Given the description of an element on the screen output the (x, y) to click on. 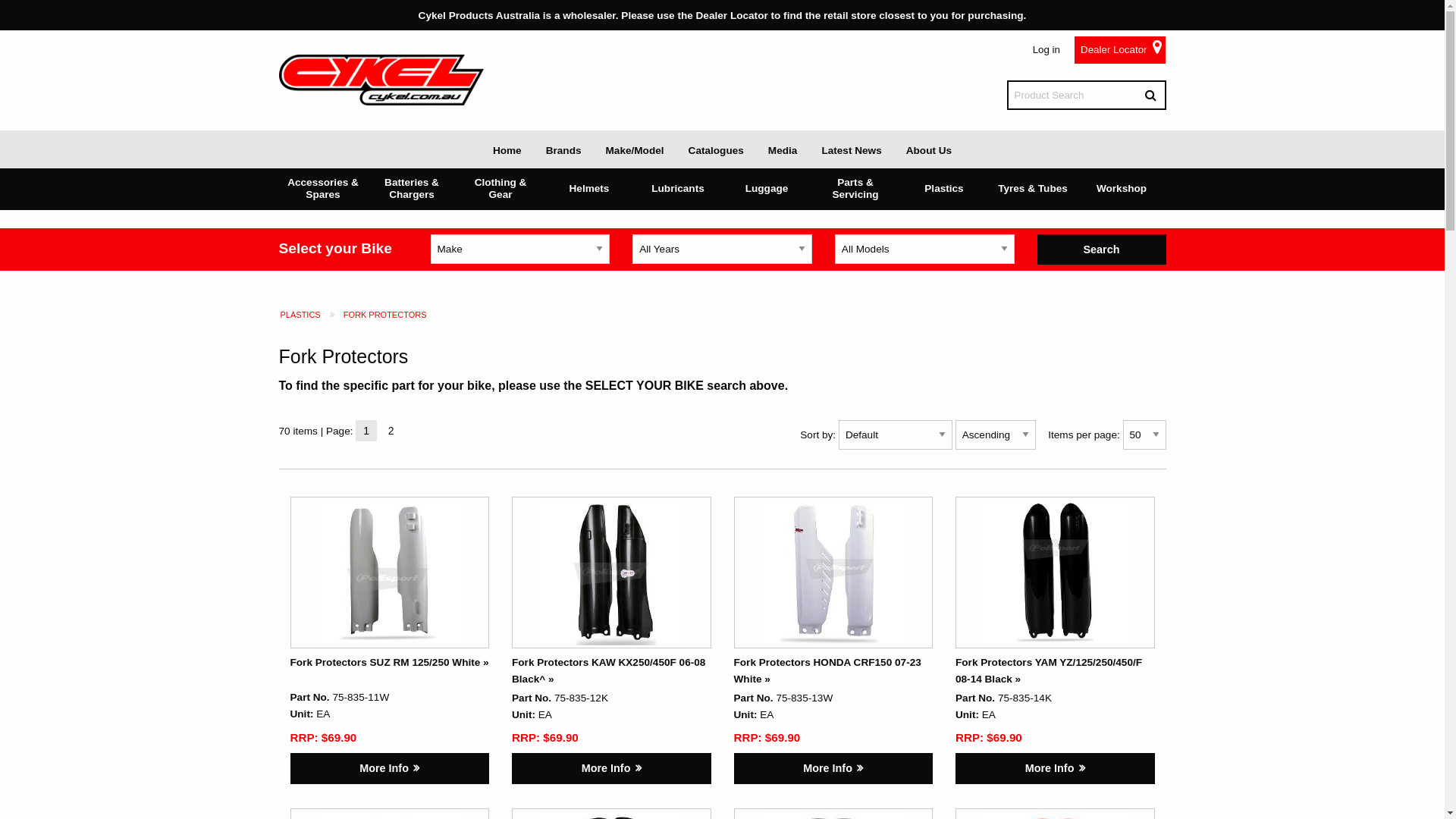
PLASTICS Element type: text (300, 314)
Search Element type: text (1101, 249)
Latest News Element type: text (851, 149)
More Info Element type: text (611, 768)
Luggage Element type: text (765, 188)
Tyres & Tubes Element type: text (1032, 188)
Media Element type: text (782, 149)
Parts & Servicing Element type: text (855, 188)
Helmets Element type: text (588, 188)
Batteries & Chargers Element type: text (411, 188)
2 Element type: text (390, 430)
More Info Element type: text (389, 768)
Accessories & Spares Element type: text (323, 188)
Home Element type: text (506, 149)
Make/Model Element type: text (634, 149)
Catalogues Element type: text (716, 149)
Log in Element type: text (1046, 49)
About Us Element type: text (928, 149)
More Info Element type: text (833, 768)
Workshop Element type: text (1120, 188)
Brands Element type: text (563, 149)
Lubricants Element type: text (677, 188)
Clothing & Gear Element type: text (500, 188)
Dealer Locator Element type: text (1113, 49)
FORK PROTECTORS Element type: text (384, 314)
Plastics Element type: text (943, 188)
More Info Element type: text (1054, 768)
